Given the description of an element on the screen output the (x, y) to click on. 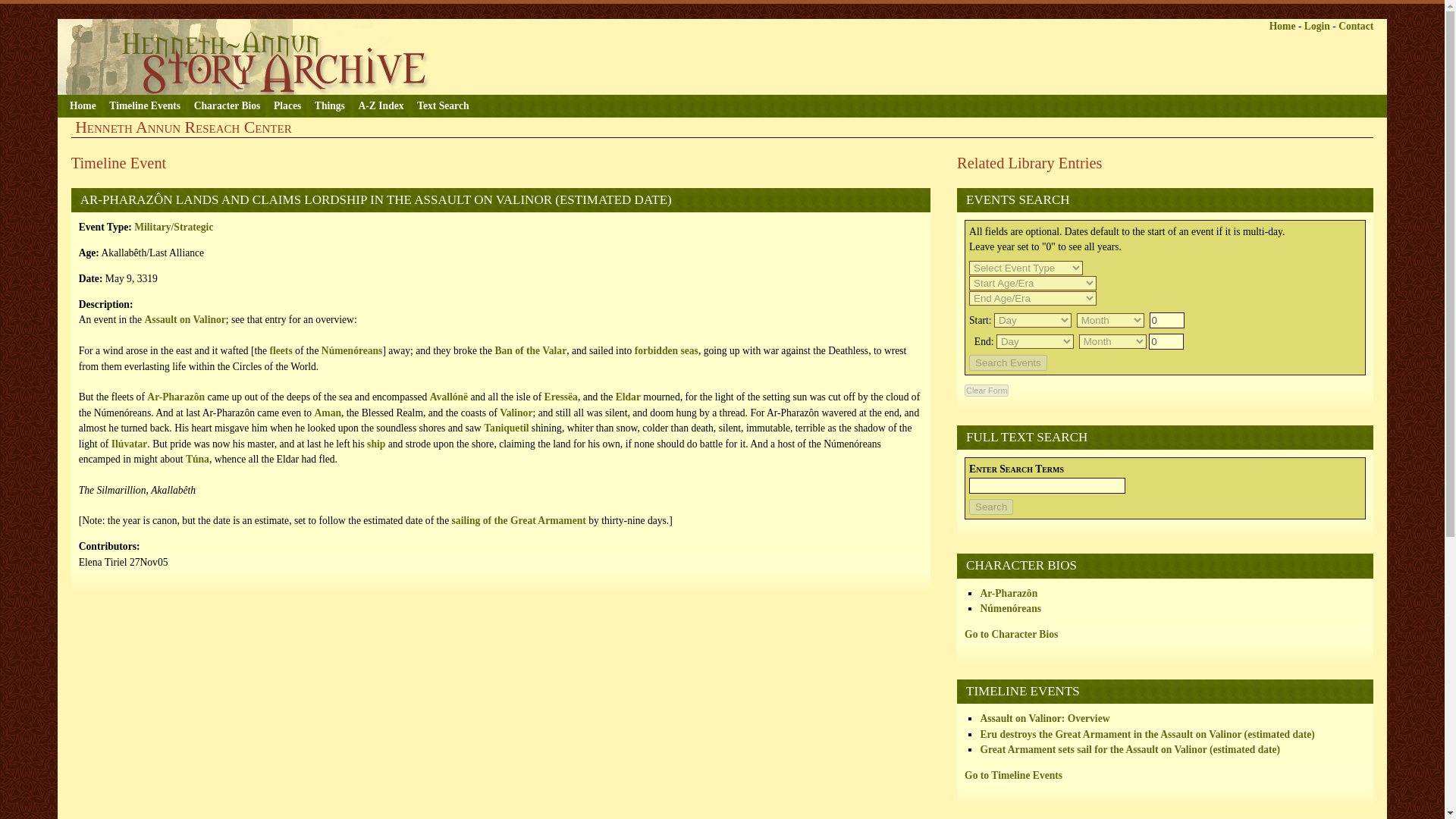
Skip to bottom of page (295, 11)
sailing of the Great Armament (518, 520)
Skip to content (90, 11)
fleets (280, 350)
Search for events in the Reference Library (1164, 301)
Skip to logon (154, 11)
ship (375, 443)
Clear Form (986, 390)
Search (991, 506)
Skip to member login form (154, 11)
0 (1167, 320)
Text Search (441, 106)
0 (1165, 341)
Things (327, 106)
Assault on Valinor (184, 319)
